Given the description of an element on the screen output the (x, y) to click on. 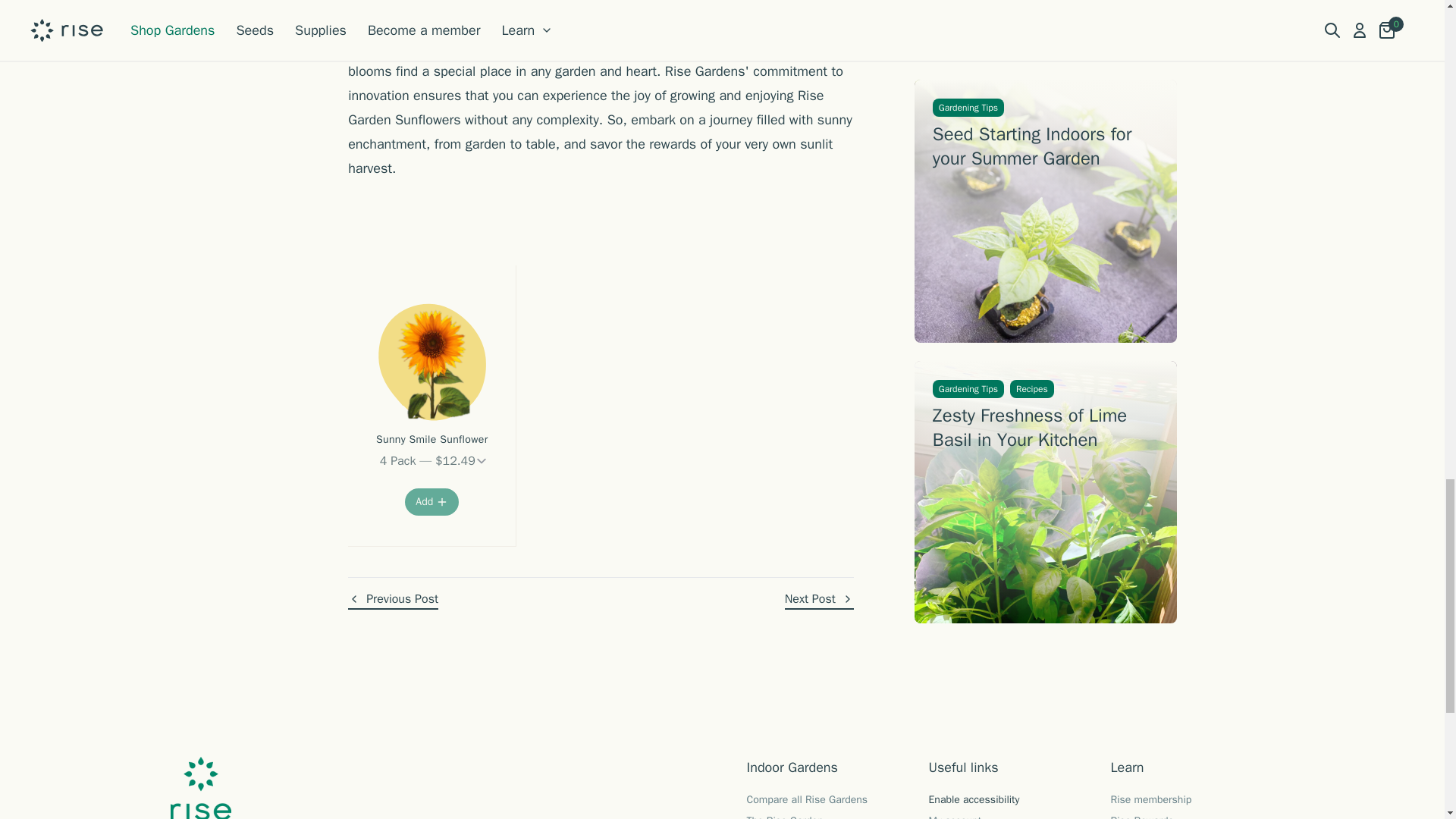
Compare all Rise Gardens (806, 799)
Next Post (818, 599)
Add (431, 501)
Previous Post (392, 599)
My account (954, 816)
The Rise Garden (783, 816)
Sunny Smile Sunflower (431, 439)
